Given the description of an element on the screen output the (x, y) to click on. 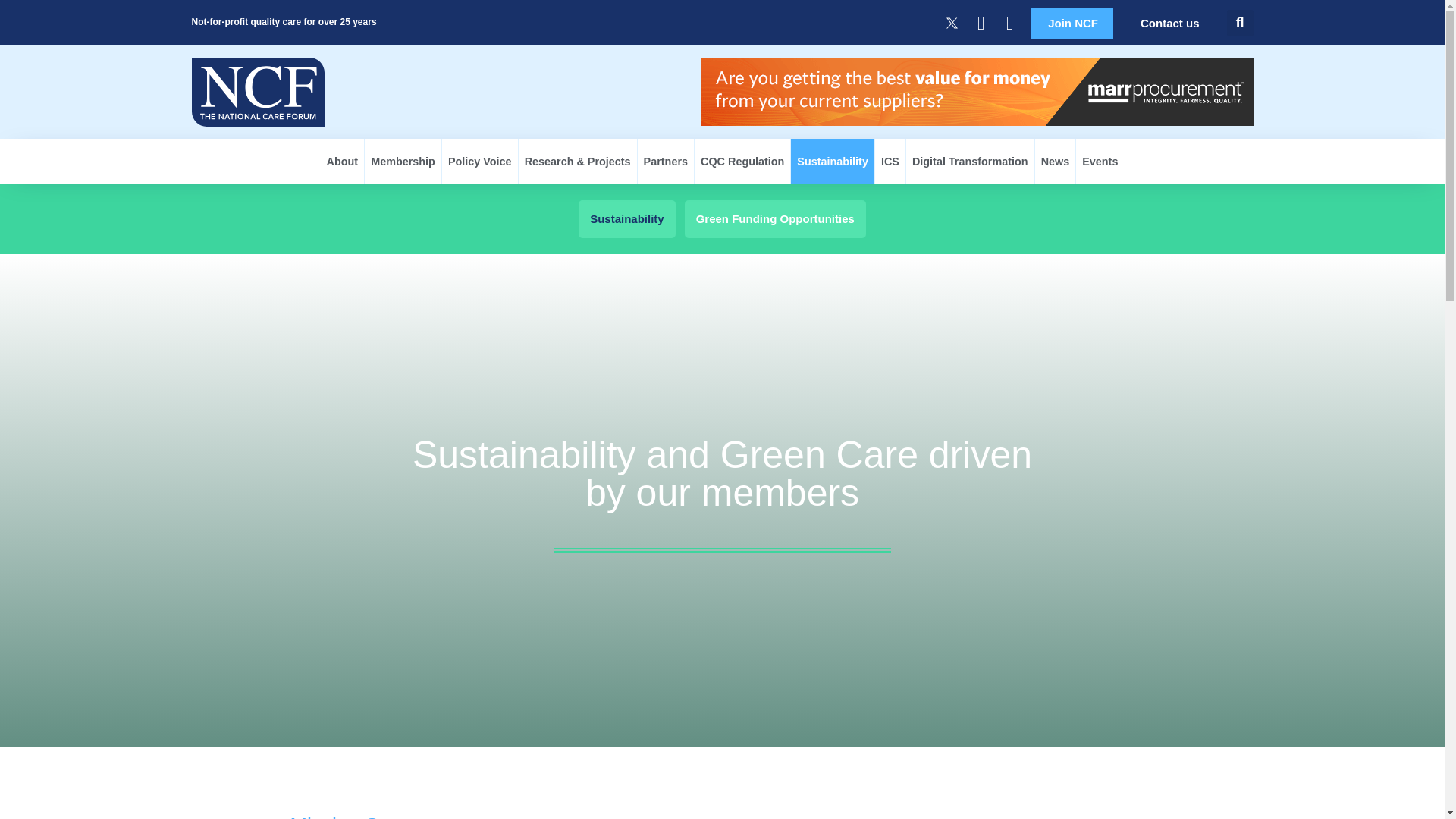
About (342, 161)
Membership (403, 161)
Partners (665, 161)
Contact us (1169, 22)
CQC Regulation (742, 161)
Digital Transformation (969, 161)
Sustainability (832, 161)
Join NCF (1071, 22)
Policy Voice (480, 161)
